Given the description of an element on the screen output the (x, y) to click on. 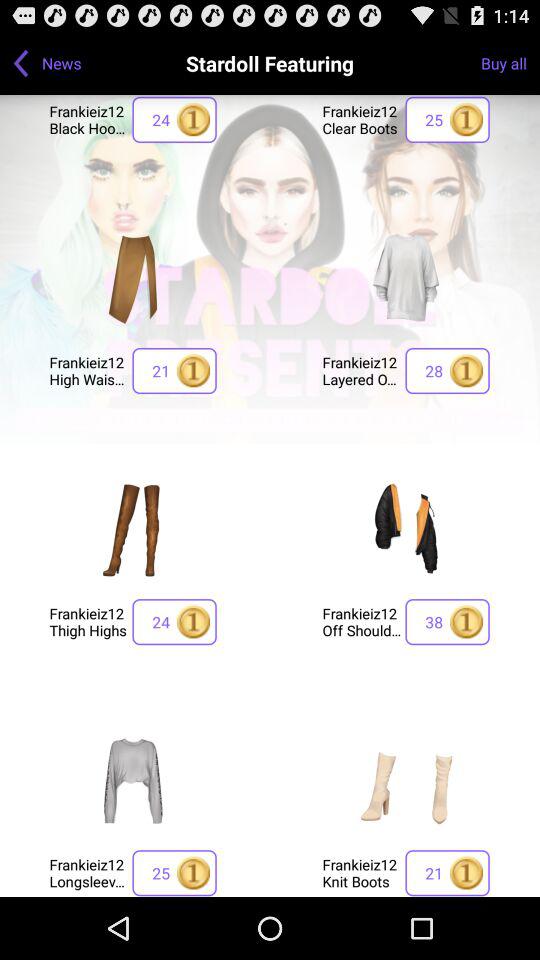
press news app (61, 62)
